Given the description of an element on the screen output the (x, y) to click on. 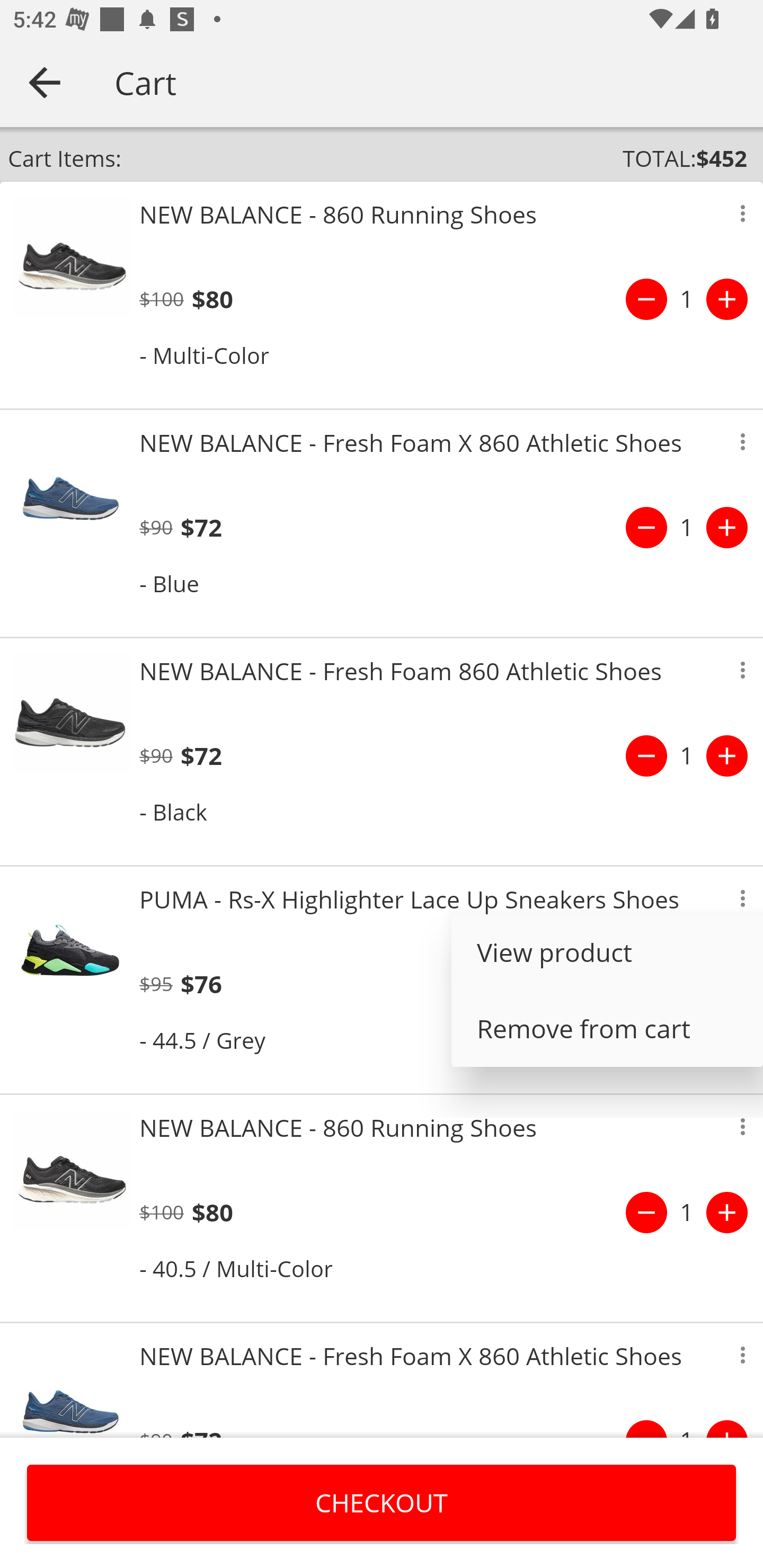
View product (607, 952)
Remove from cart (607, 1028)
